Given the description of an element on the screen output the (x, y) to click on. 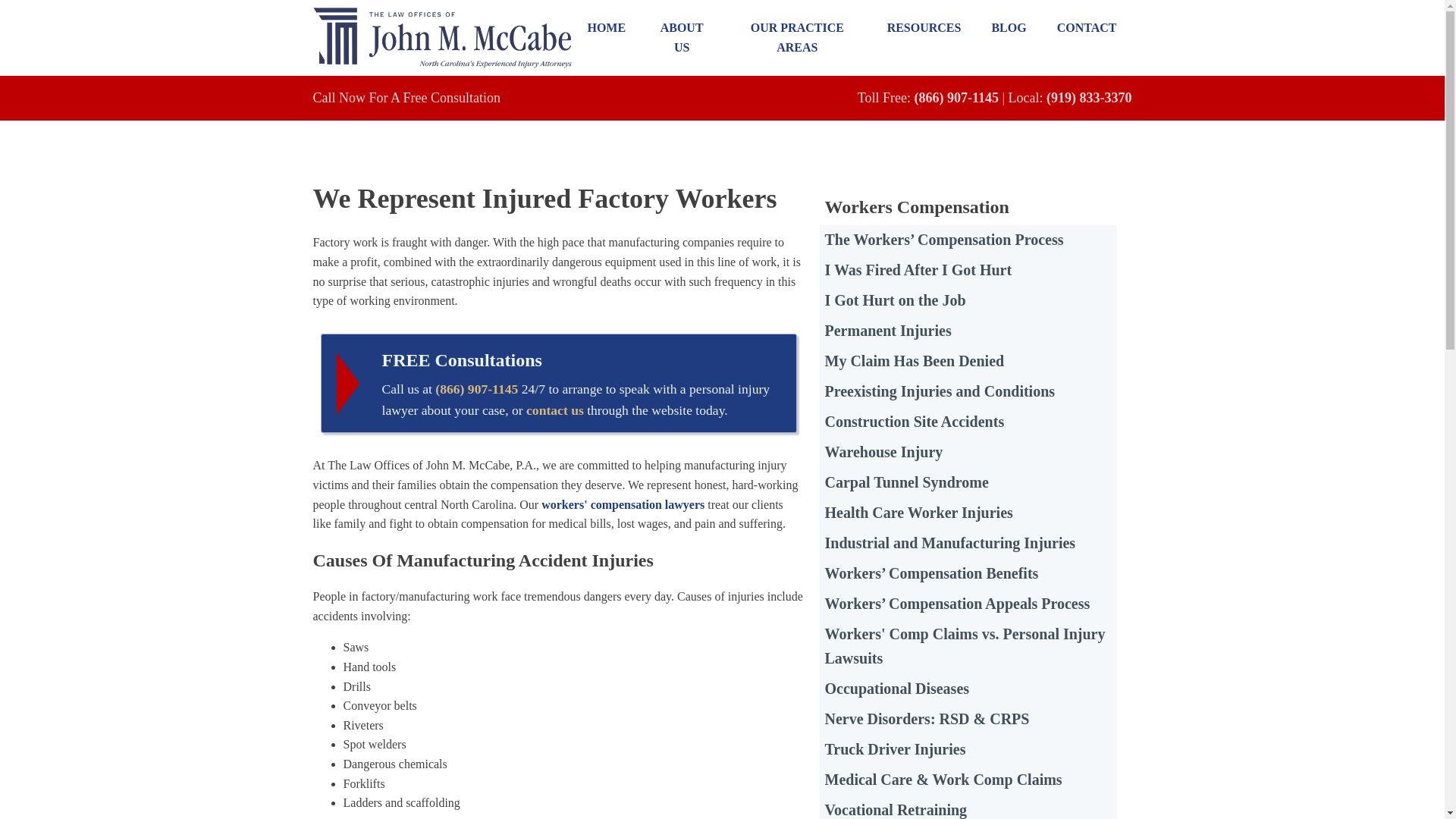
OUR PRACTICE AREAS (797, 37)
I Was Fired After I Got Hurt (967, 270)
workers' compensation lawyers (622, 504)
HOME (606, 27)
Preexisting Injuries and Conditions (967, 391)
ABOUT US (681, 37)
Construction Site Accidents (967, 422)
Carpal Tunnel Syndrome (967, 482)
RESOURCES (924, 27)
Permanent Injuries (967, 331)
